Given the description of an element on the screen output the (x, y) to click on. 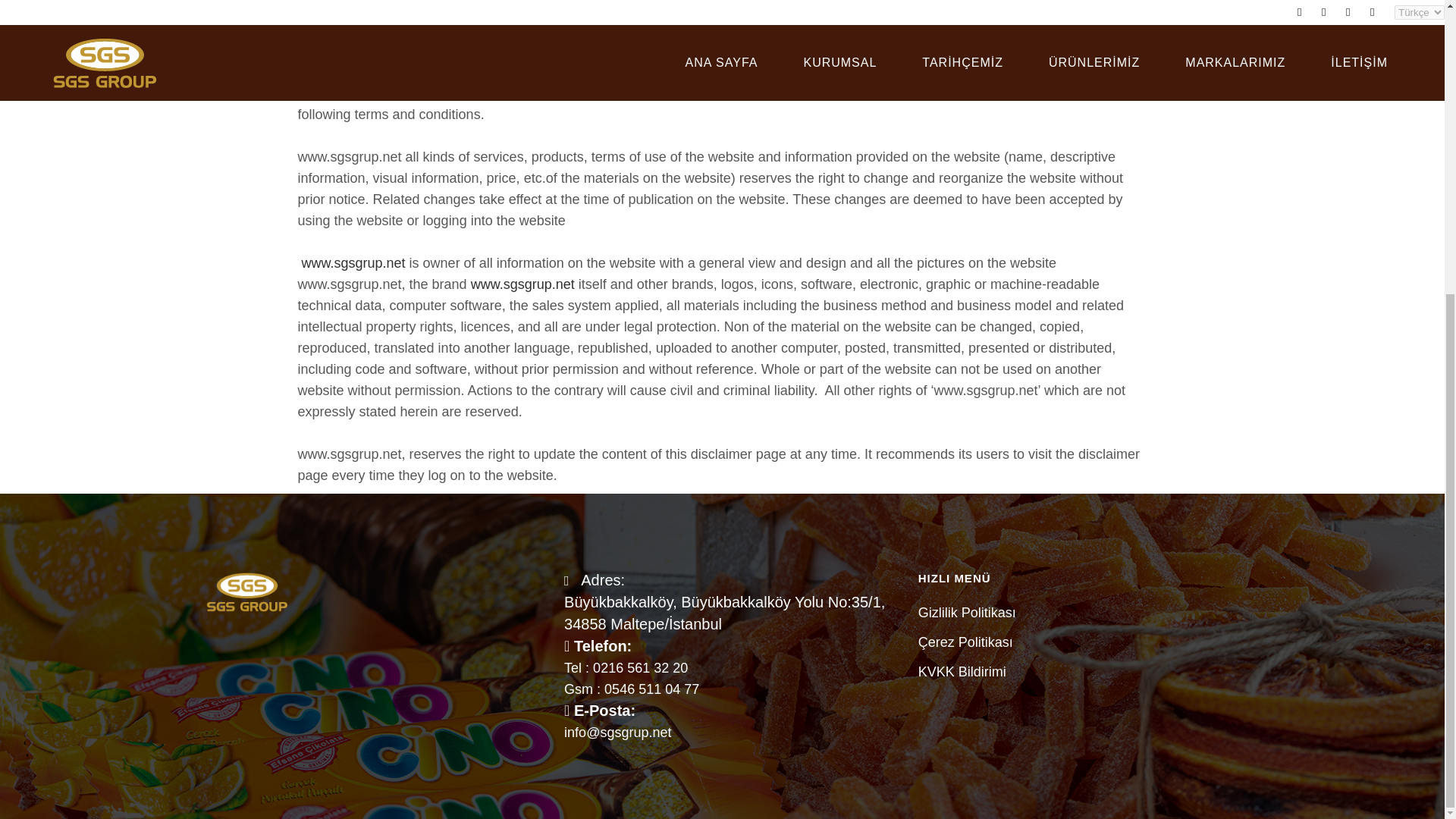
www.sgsgrup.net (522, 283)
www.sgsgrup.net (716, 92)
www.sgsgrup.net (353, 263)
KVKK Bildirimi (1085, 671)
